Given the description of an element on the screen output the (x, y) to click on. 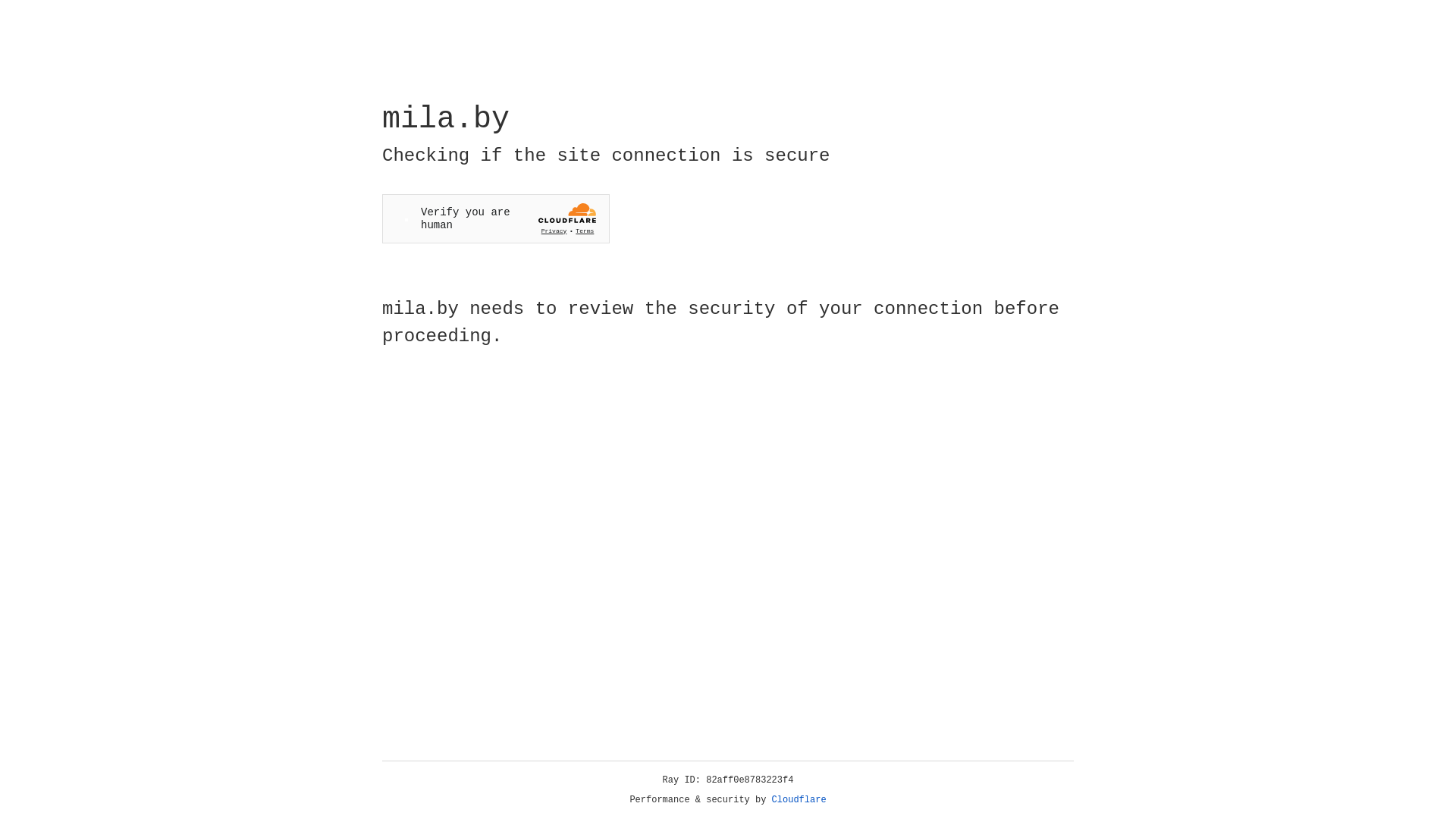
Cloudflare Element type: text (798, 799)
Widget containing a Cloudflare security challenge Element type: hover (495, 218)
